Given the description of an element on the screen output the (x, y) to click on. 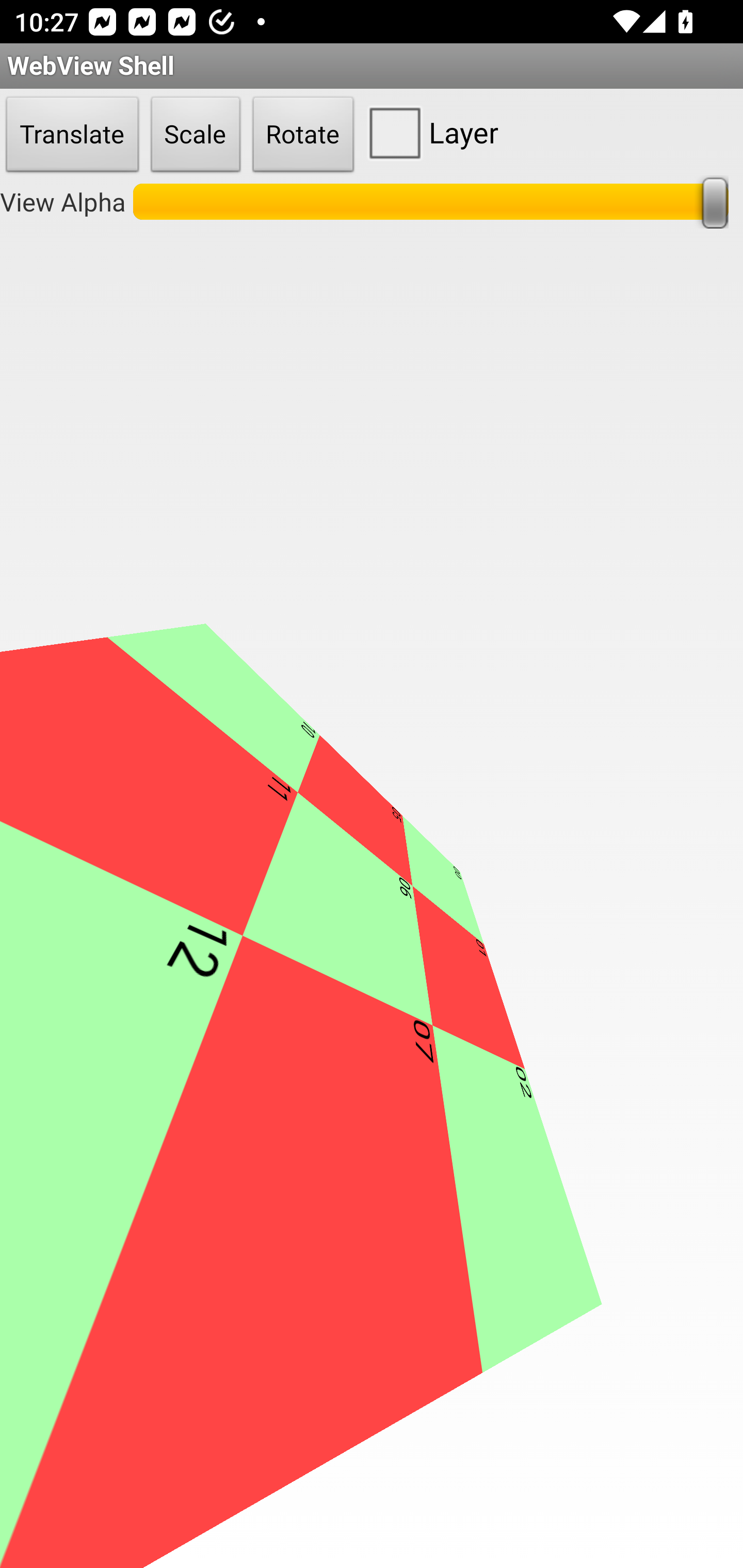
Layer (429, 132)
Translate (72, 135)
Scale (195, 135)
Rotate (303, 135)
